Given the description of an element on the screen output the (x, y) to click on. 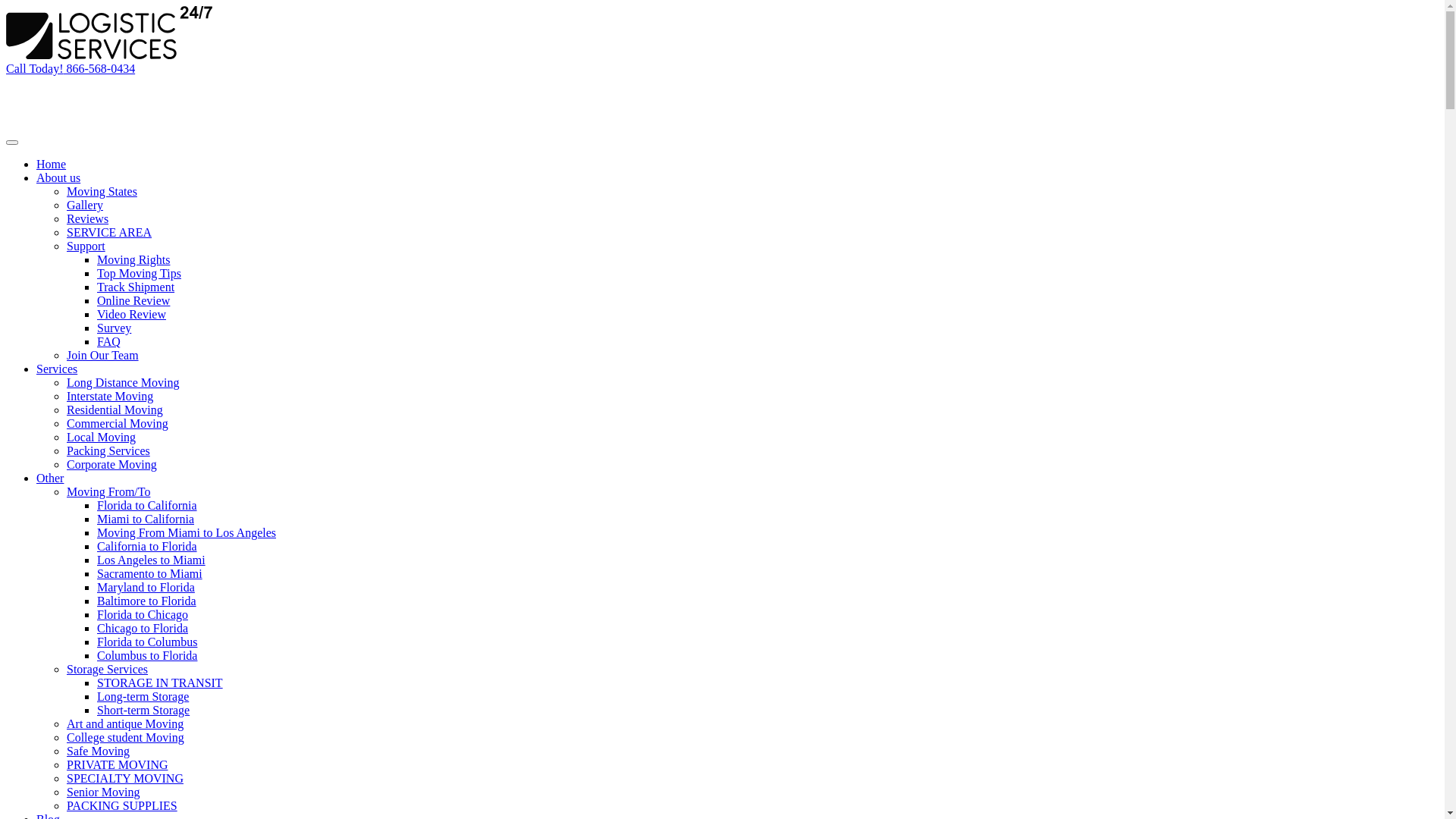
Top Moving Tips Element type: text (139, 272)
Chicago to Florida Element type: text (142, 627)
Short-term Storage Element type: text (143, 709)
Moving States Element type: text (101, 191)
Home Element type: text (50, 163)
Los Angeles to Miami Element type: text (151, 559)
Florida to Columbus Element type: text (147, 641)
California to Florida Element type: text (147, 545)
PRIVATE MOVING Element type: text (117, 764)
Packing Services Element type: text (108, 450)
Senior Moving Element type: text (102, 791)
Art and antique Moving Element type: text (124, 723)
Online Review Element type: text (133, 300)
College student Moving Element type: text (125, 737)
Survey Element type: text (114, 327)
Florida to Chicago Element type: text (142, 614)
Miami to California Element type: text (145, 518)
Storage Services Element type: text (106, 668)
About us Element type: text (58, 177)
Moving From Miami to Los Angeles Element type: text (186, 532)
Moving Rights Element type: text (133, 259)
Support Element type: text (85, 245)
Maryland to Florida Element type: text (145, 586)
Long Distance Moving Element type: text (122, 382)
Florida to California Element type: text (147, 504)
Sacramento to Miami Element type: text (149, 573)
Reviews Element type: text (87, 218)
STORAGE IN TRANSIT Element type: text (159, 682)
Interstate Moving Element type: text (109, 395)
Join Our Team Element type: text (102, 354)
Gallery Element type: text (84, 204)
Long-term Storage Element type: text (142, 696)
Moving From/To Element type: text (108, 491)
Services Element type: text (56, 368)
Local Moving Element type: text (100, 436)
SERVICE AREA Element type: text (108, 231)
FAQ Element type: text (108, 341)
Columbus to Florida Element type: text (147, 655)
SPECIALTY MOVING Element type: text (124, 777)
Corporate Moving Element type: text (111, 464)
Residential Moving Element type: text (114, 409)
Track Shipment Element type: text (135, 286)
Video Review Element type: text (131, 313)
Safe Moving Element type: text (97, 750)
Other Element type: text (49, 477)
PACKING SUPPLIES Element type: text (121, 805)
Baltimore to Florida Element type: text (146, 600)
Commercial Moving Element type: text (117, 423)
Call Today! 866-568-0434 Element type: text (70, 68)
